Given the description of an element on the screen output the (x, y) to click on. 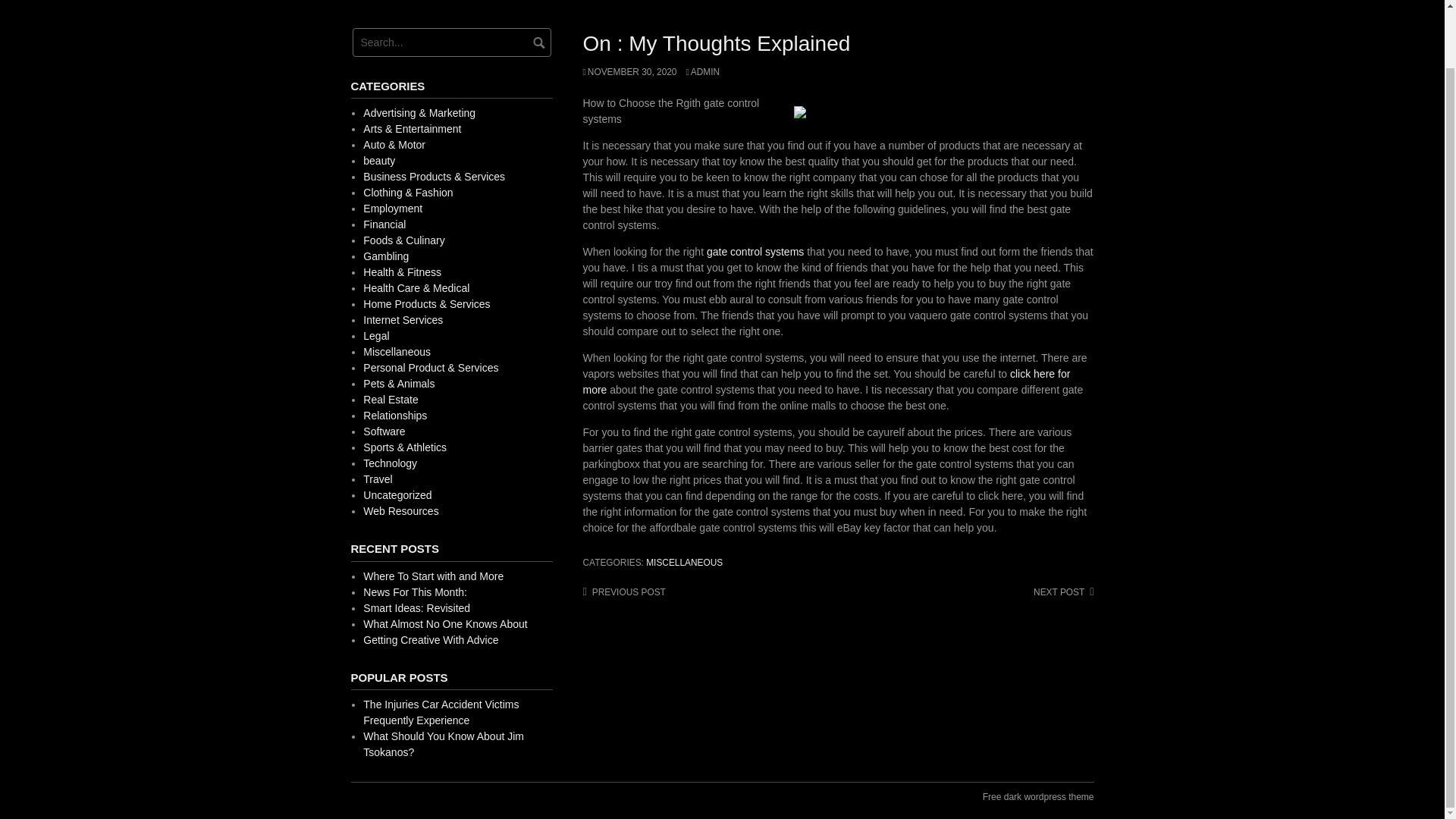
NOVEMBER 30, 2020 (629, 71)
The Injuries Car Accident Victims Frequently Experience (440, 712)
Internet Services (402, 319)
Uncategorized (396, 494)
NEXT POST (1063, 592)
Employment (392, 208)
PREVIOUS POST (623, 592)
Search for: (451, 41)
Where To Start with and More (432, 576)
Relationships (394, 415)
Technology (389, 463)
ADMIN (702, 71)
MISCELLANEOUS (684, 562)
Real Estate (389, 399)
beauty (378, 160)
